Given the description of an element on the screen output the (x, y) to click on. 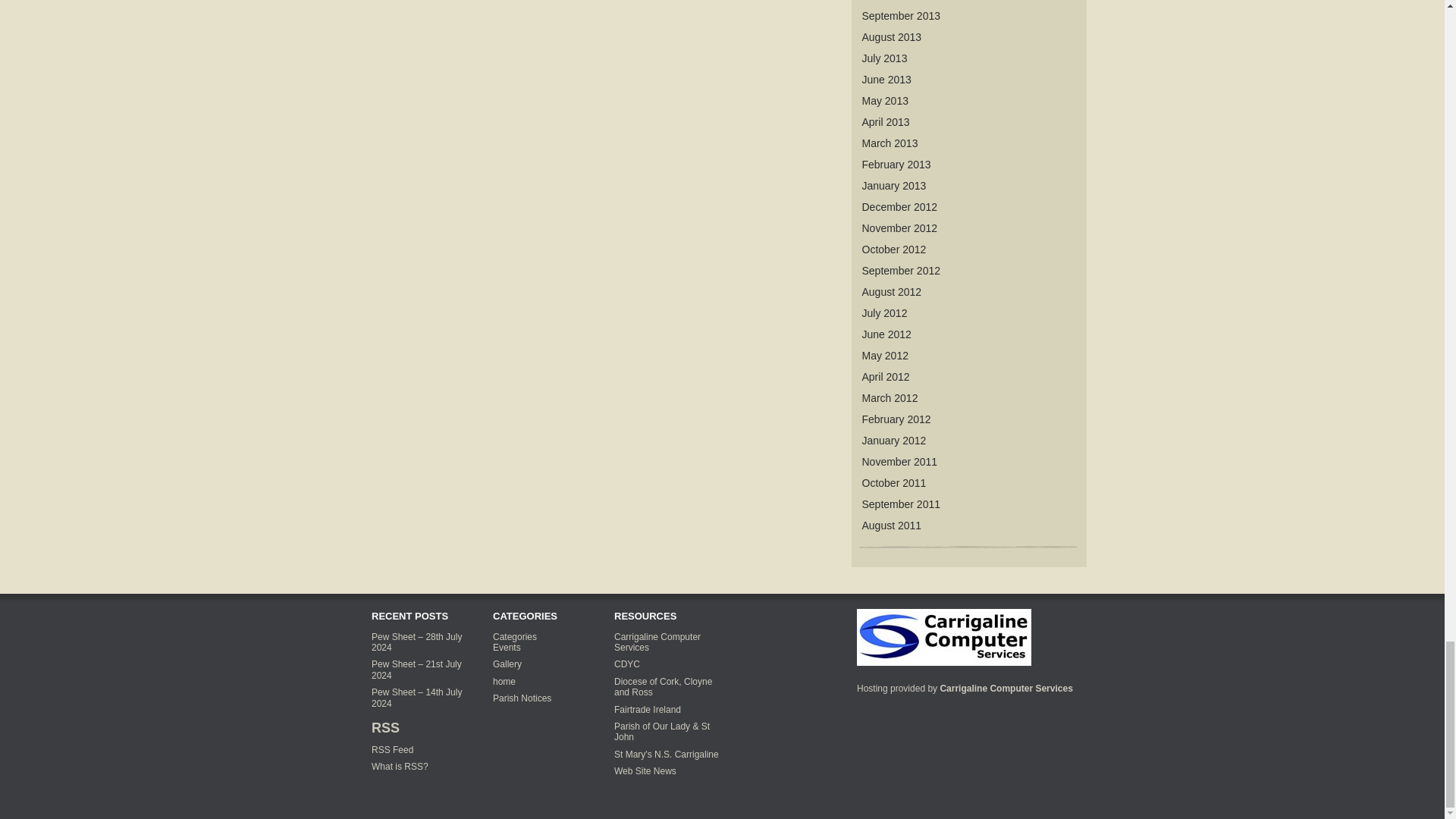
We are proud to be a Fairtrade Parish. (647, 709)
The official website of the Diocese. (662, 686)
Home (943, 635)
